Given the description of an element on the screen output the (x, y) to click on. 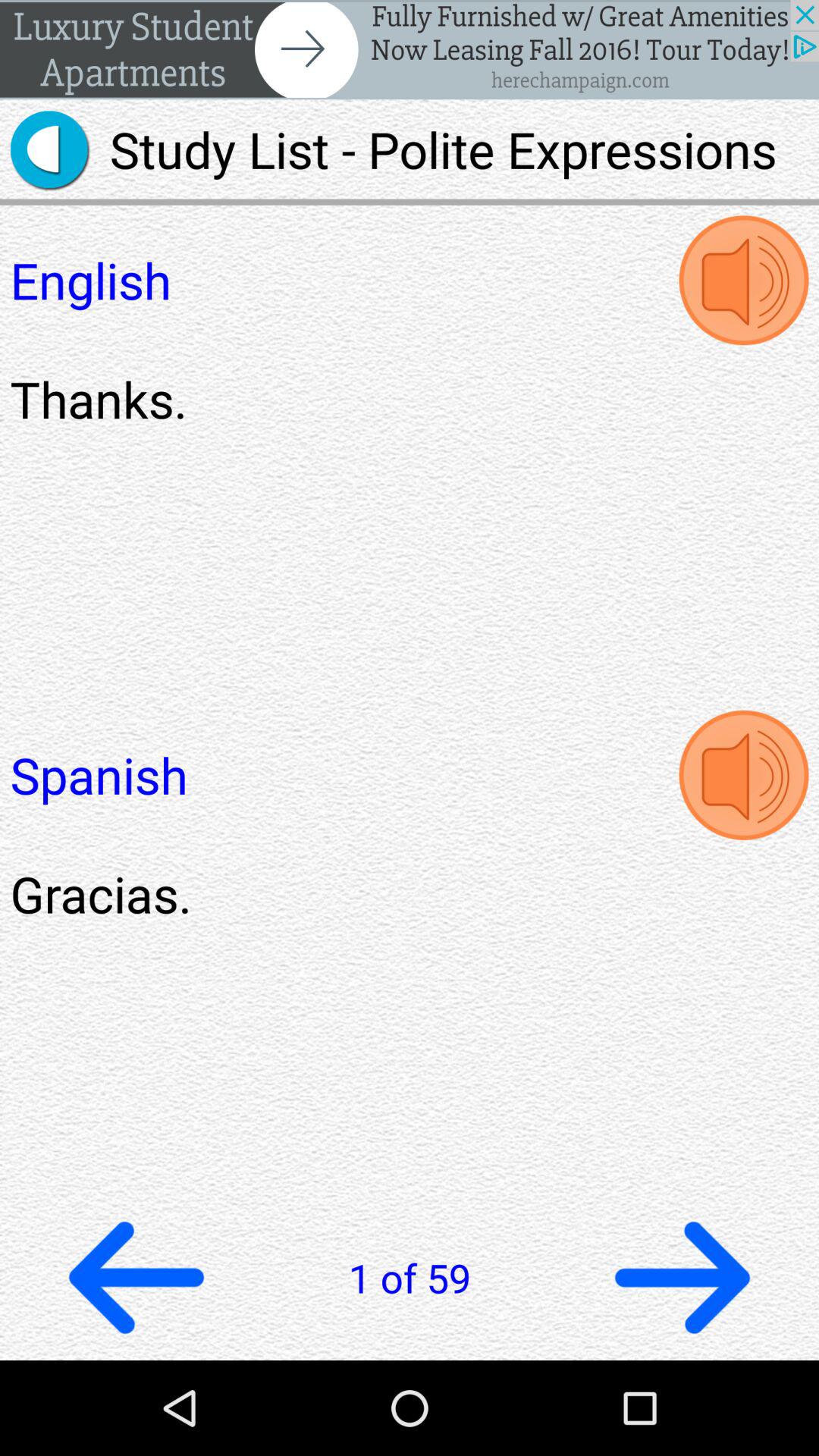
open advertisement (409, 49)
